Given the description of an element on the screen output the (x, y) to click on. 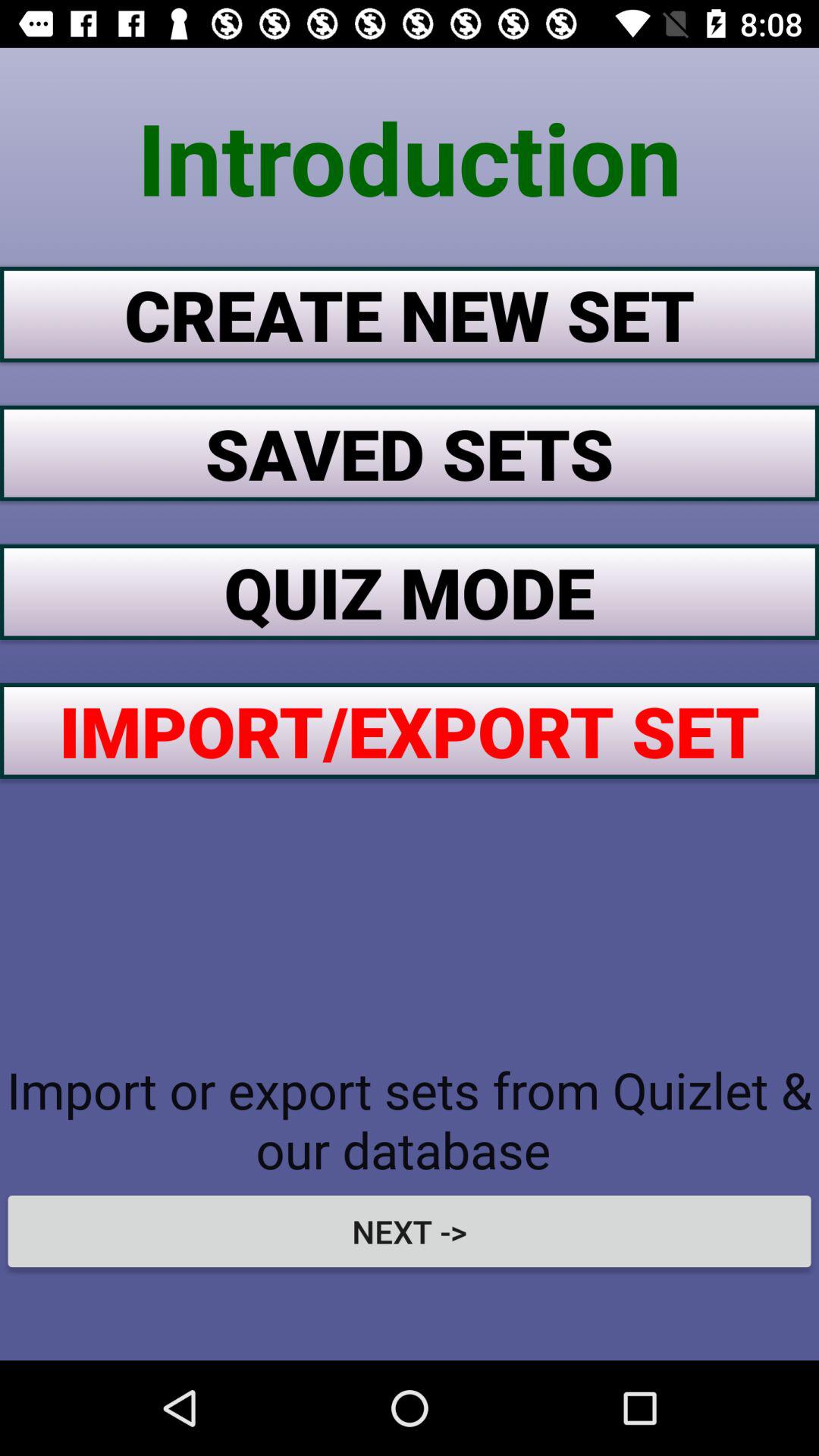
turn on icon above quiz mode (409, 453)
